Given the description of an element on the screen output the (x, y) to click on. 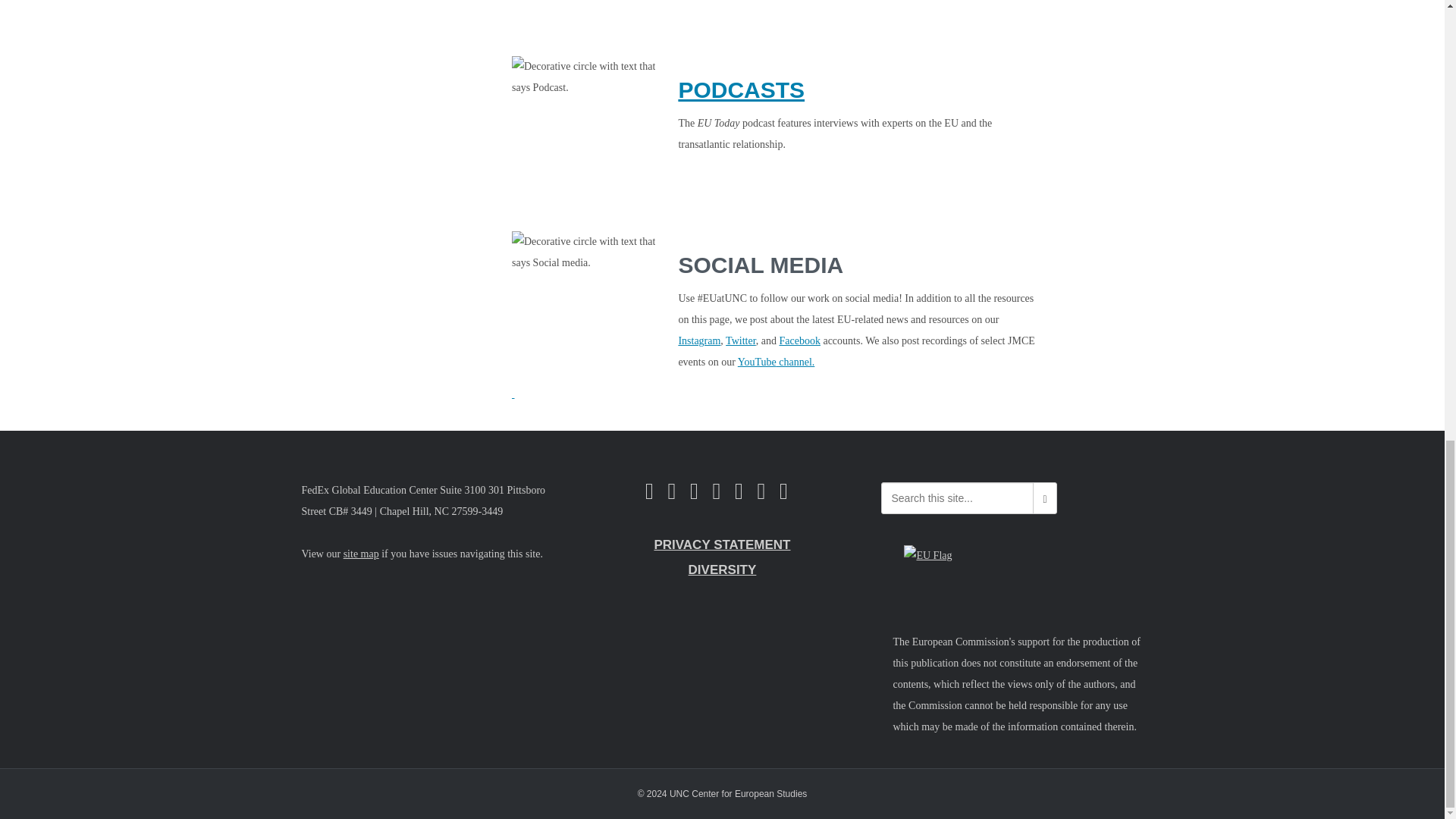
Facebook (799, 340)
channel. (795, 361)
PODCASTS (741, 89)
Instagram (699, 340)
YouTube (757, 361)
Twitter (740, 340)
